Given the description of an element on the screen output the (x, y) to click on. 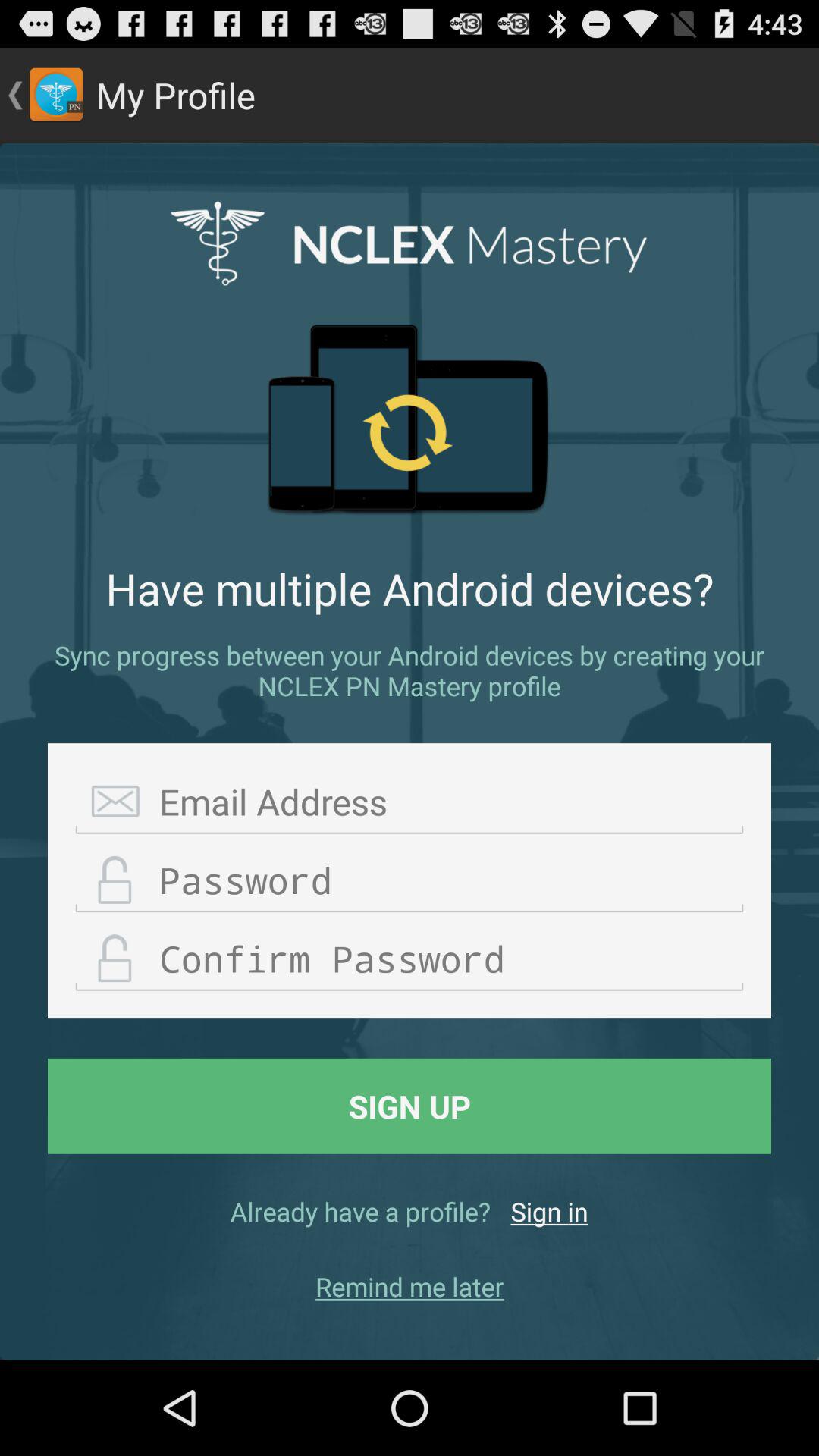
write your e-mail (409, 802)
